Given the description of an element on the screen output the (x, y) to click on. 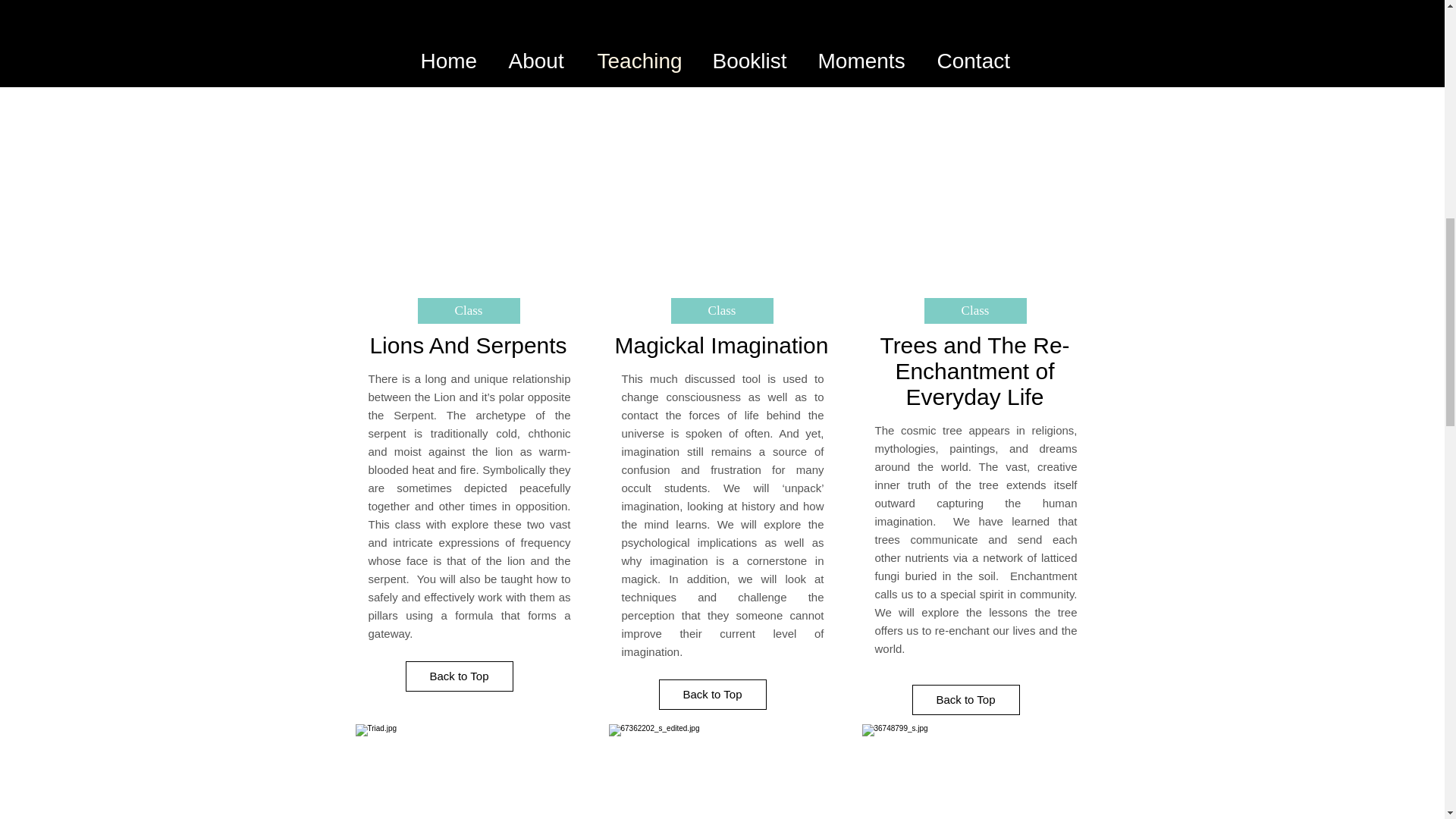
Back to Top (965, 699)
Back to Top (711, 694)
Back to Top (458, 675)
